Given the description of an element on the screen output the (x, y) to click on. 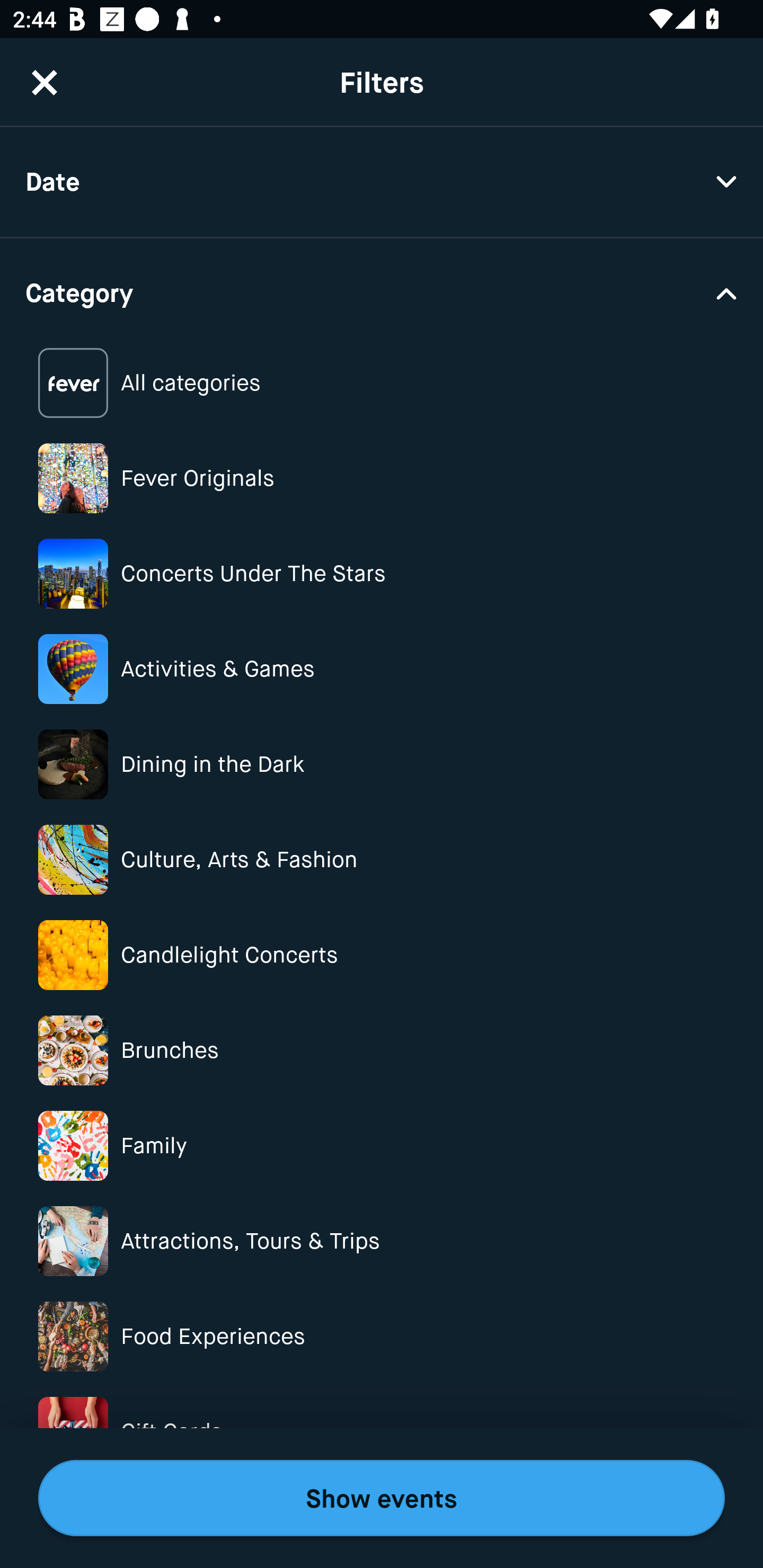
CloseButton (44, 82)
Date Drop Down Arrow (381, 182)
Category Drop Down Arrow (381, 291)
Category Image All categories (381, 382)
Category Image Fever Originals (381, 477)
Category Image Concerts Under The Stars (381, 573)
Category Image Activities & Games (381, 668)
Category Image Dining in the Dark (381, 763)
Category Image Culture, Arts & Fashion (381, 859)
Category Image Candlelight Concerts (381, 954)
Category Image Brunches (381, 1050)
Category Image Family (381, 1145)
Category Image Attractions, Tours & Trips (381, 1240)
Category Image Food Experiences (381, 1336)
Show events (381, 1497)
